Given the description of an element on the screen output the (x, y) to click on. 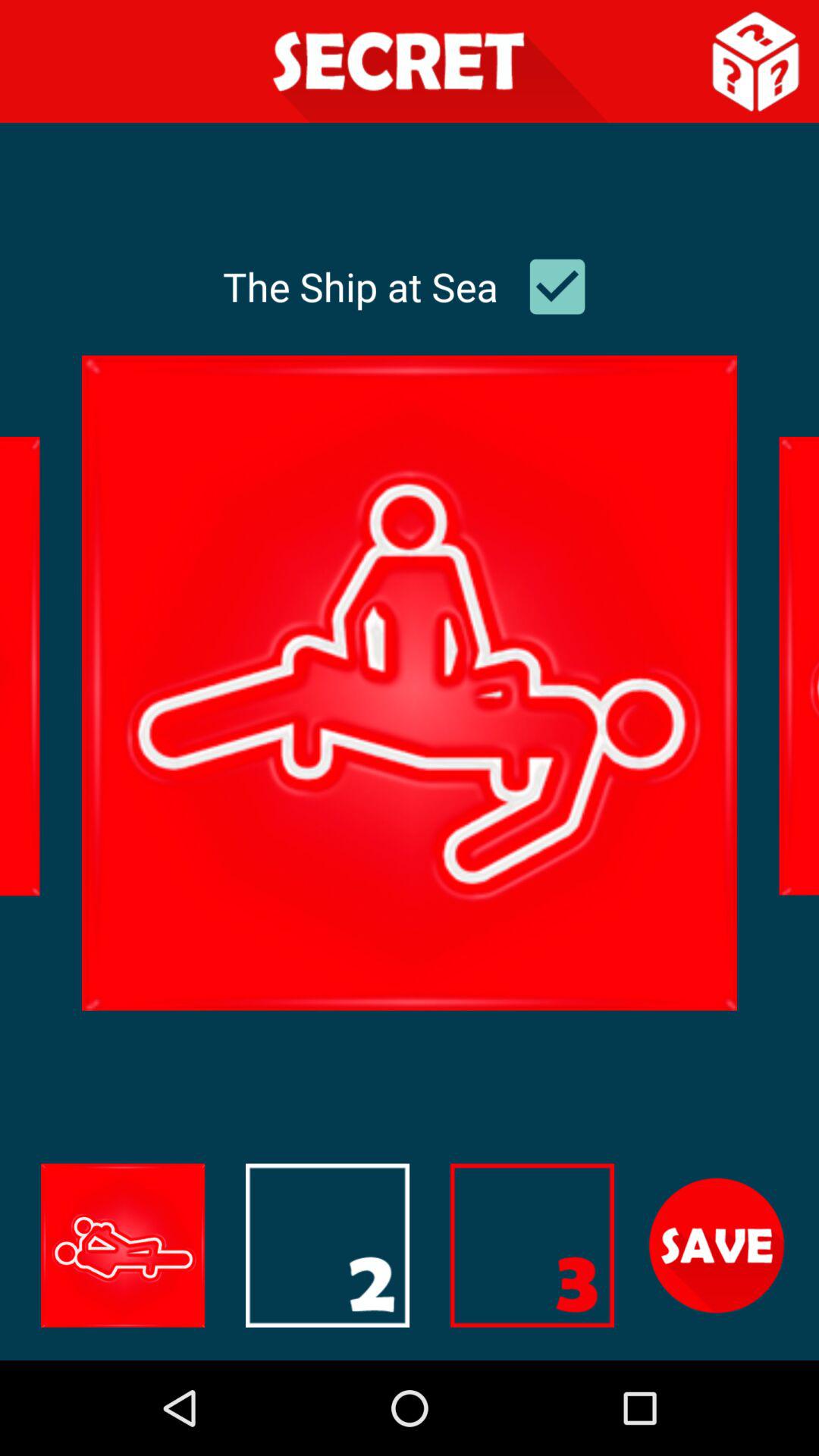
click save (716, 1245)
